Given the description of an element on the screen output the (x, y) to click on. 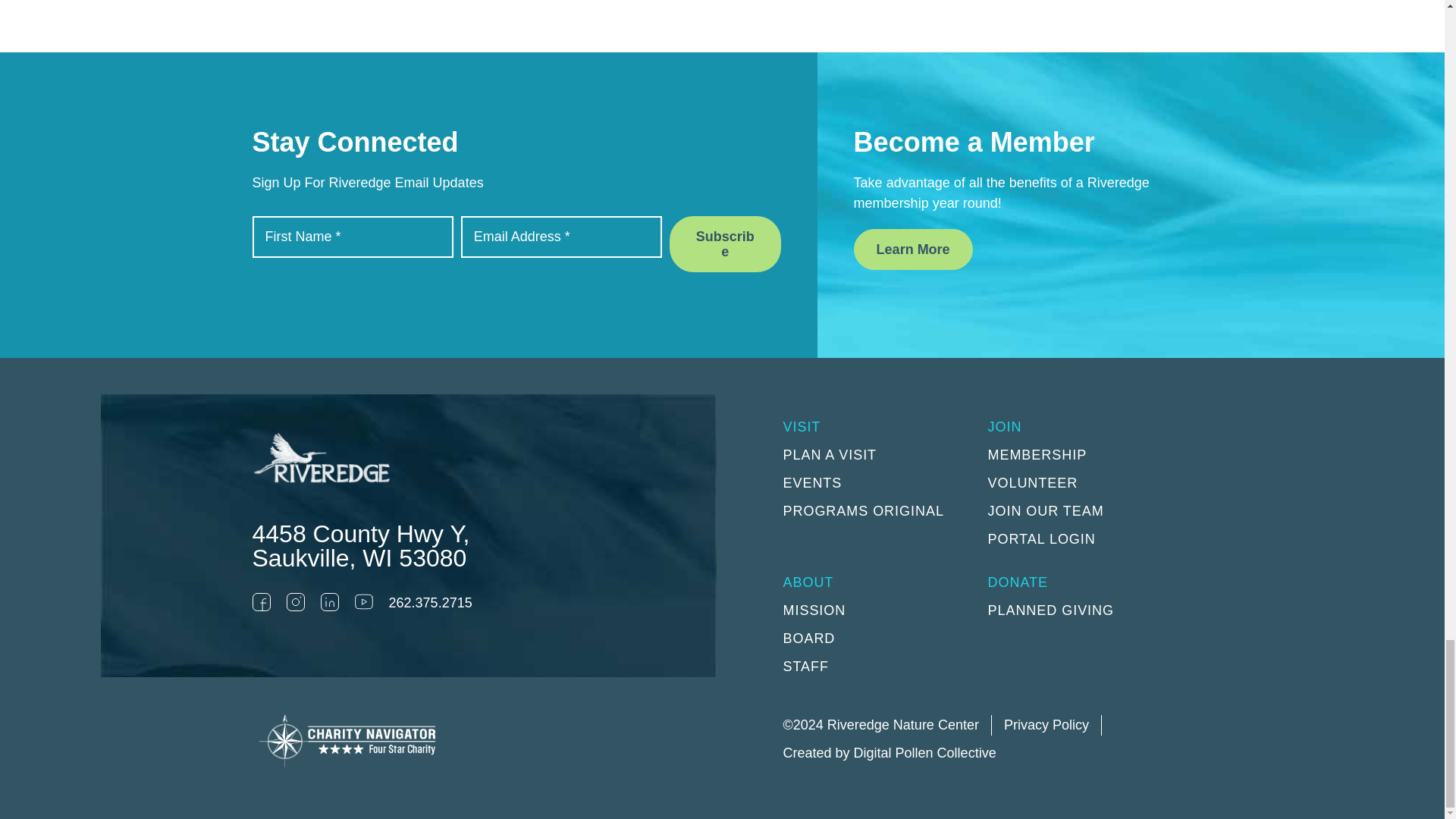
Subscribe (724, 243)
